Given the description of an element on the screen output the (x, y) to click on. 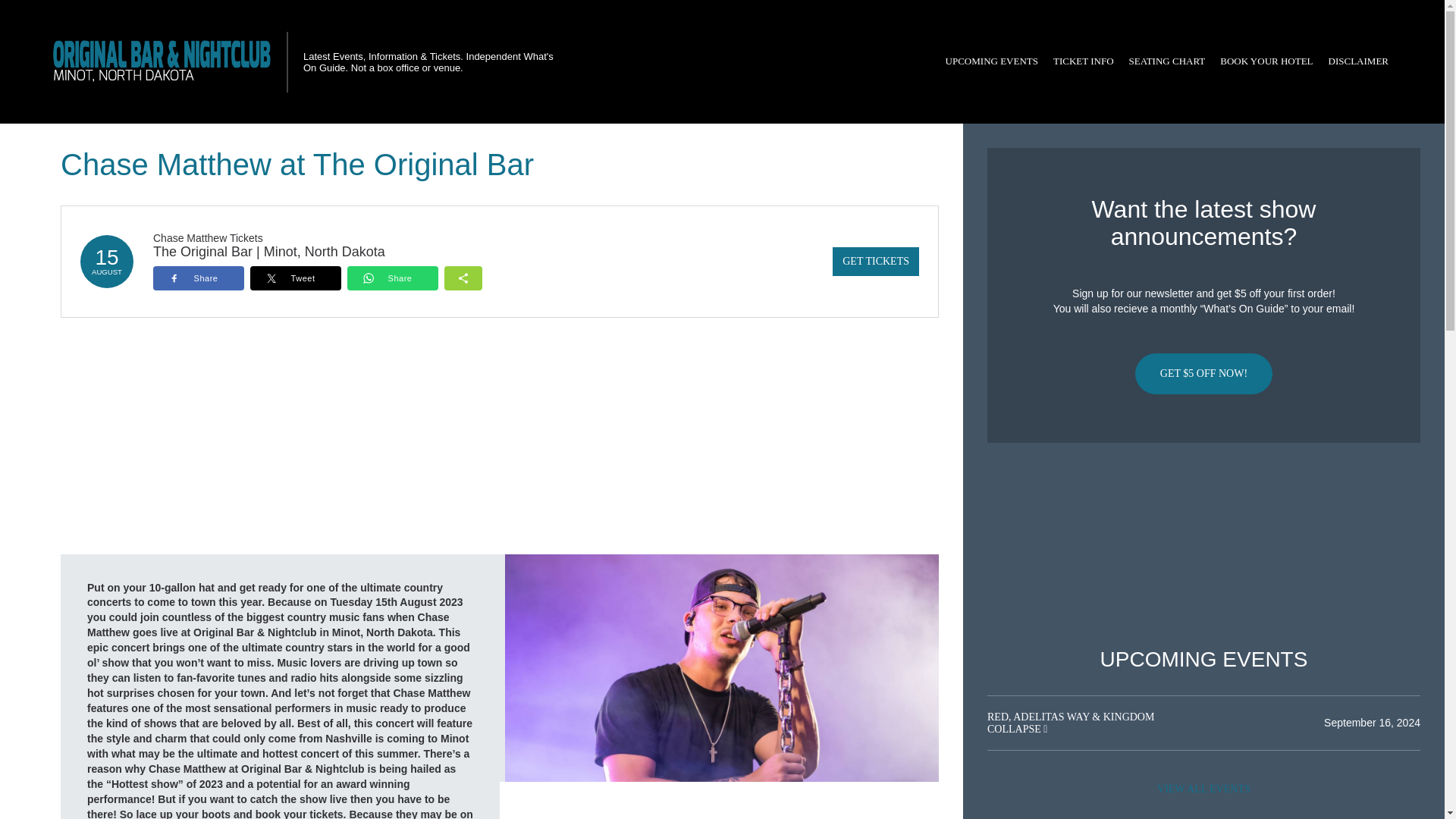
BOOK YOUR HOTEL (1266, 61)
VIEW ALL EVENTS (1203, 788)
Advertisement (1204, 545)
SEATING CHART (1166, 61)
GET TICKETS (875, 261)
Chase Matthew at The Original Bar (722, 667)
TICKET INFO (1083, 61)
UPCOMING EVENTS (991, 61)
Chase Matthew Tickets (207, 237)
